Given the description of an element on the screen output the (x, y) to click on. 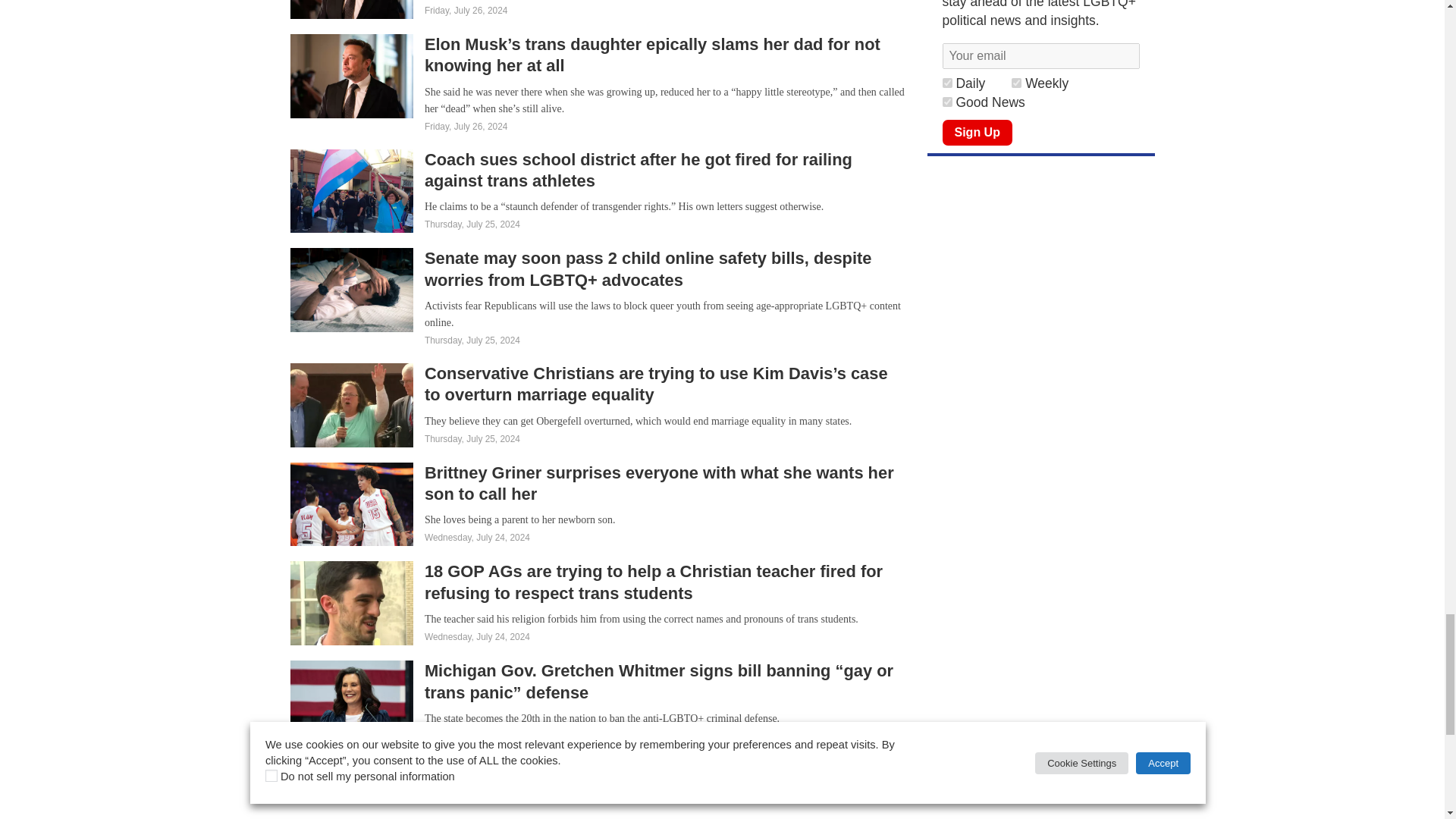
1920883 (947, 102)
1920884 (1016, 82)
Sign Up (976, 132)
1920885 (947, 82)
